Given the description of an element on the screen output the (x, y) to click on. 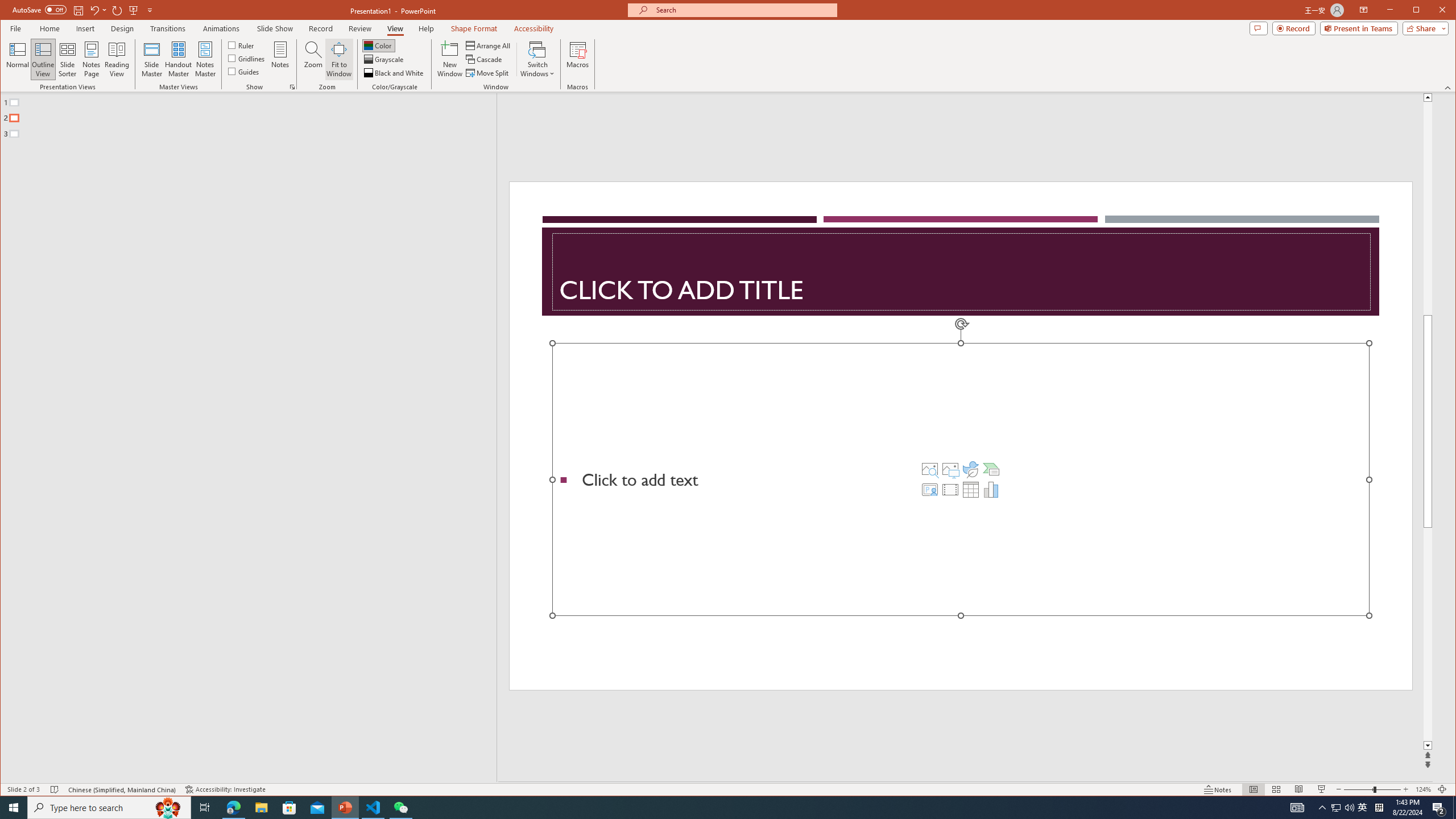
Insert Chart (991, 489)
